Given the description of an element on the screen output the (x, y) to click on. 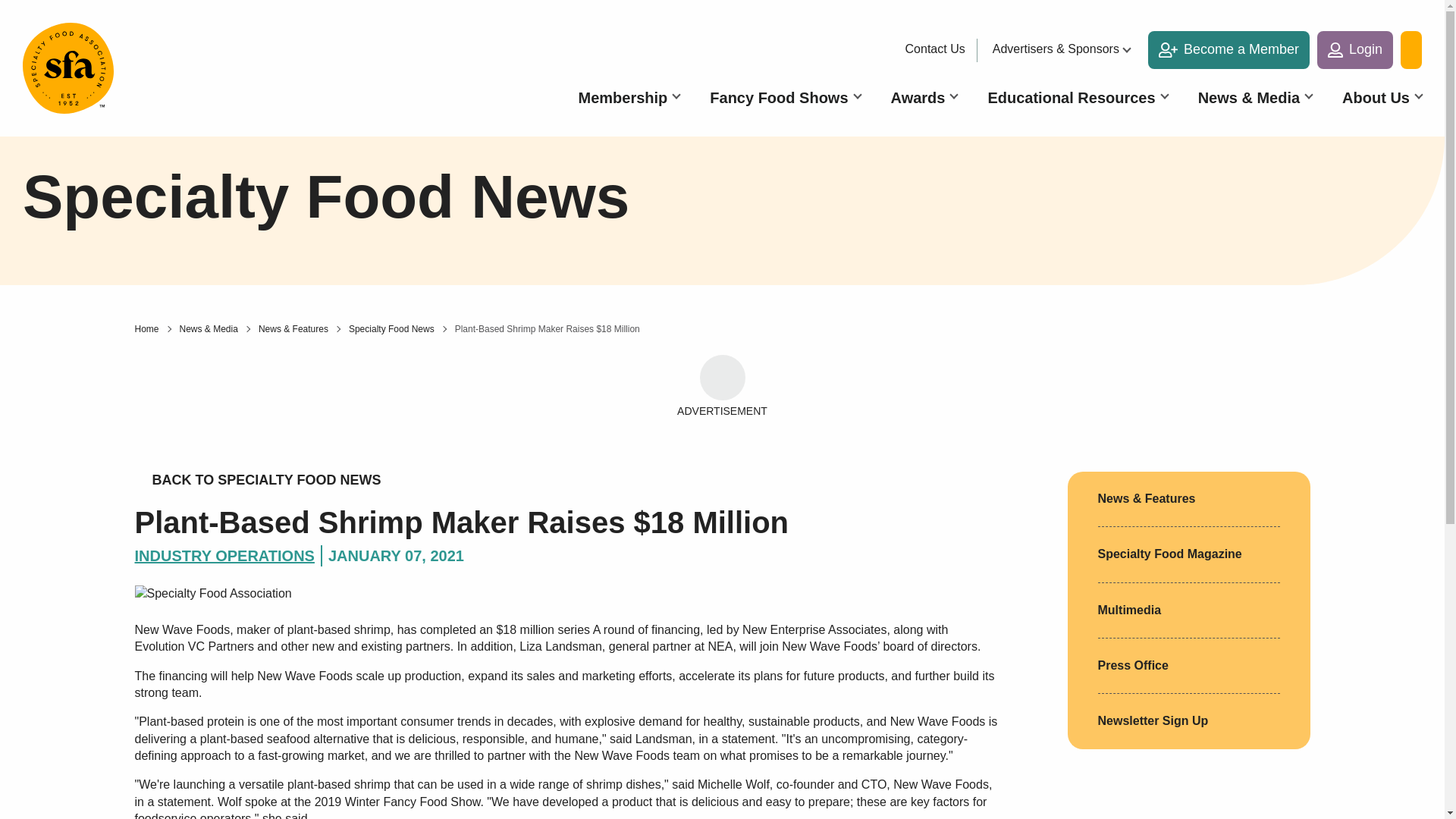
Login (1355, 49)
Membership (628, 97)
Become a Member (1228, 49)
Contact Us (938, 49)
